Given the description of an element on the screen output the (x, y) to click on. 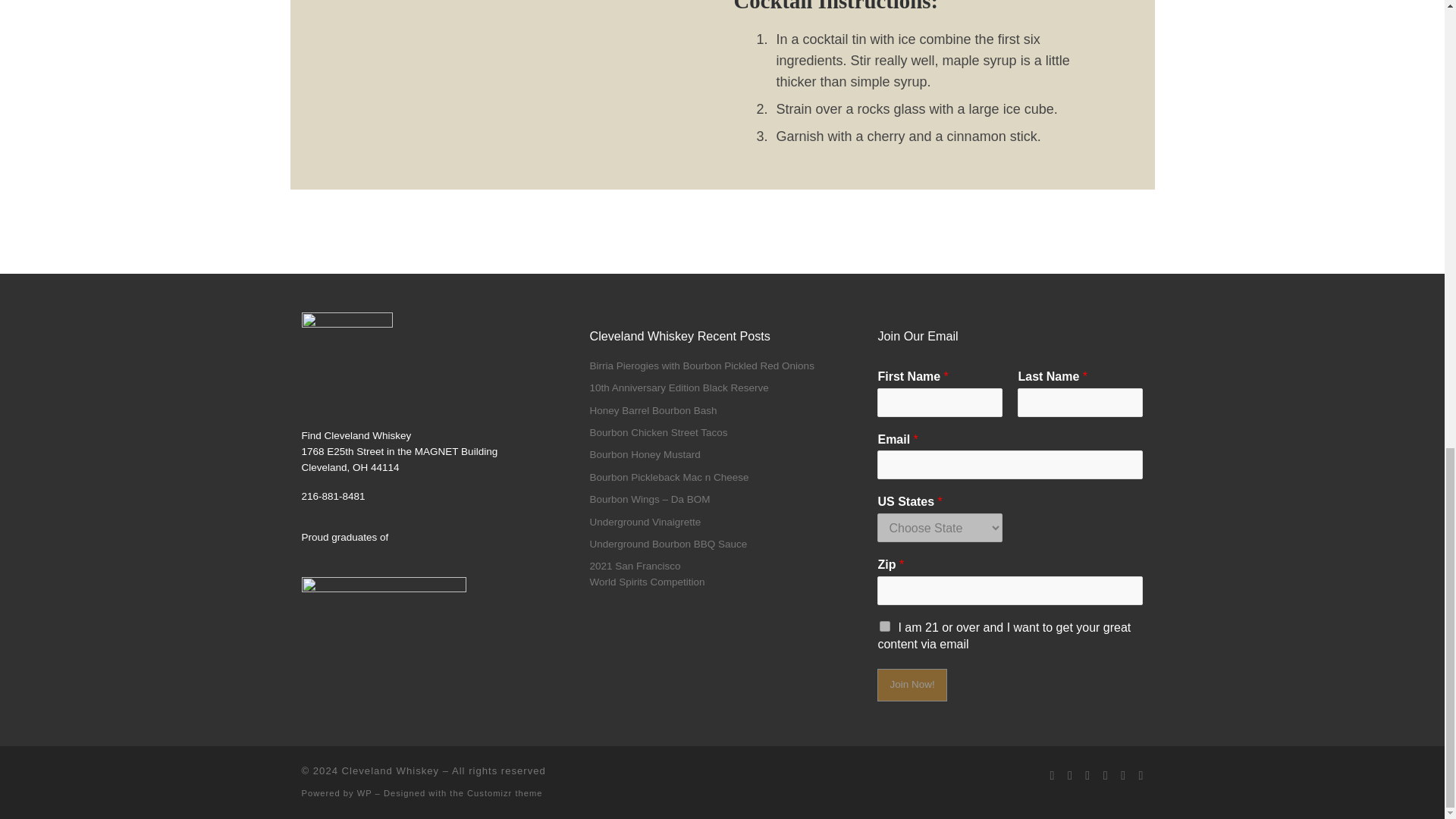
Powered by WordPress (364, 792)
Customizr theme (505, 792)
Cleveland Whiskey (390, 770)
